Given the description of an element on the screen output the (x, y) to click on. 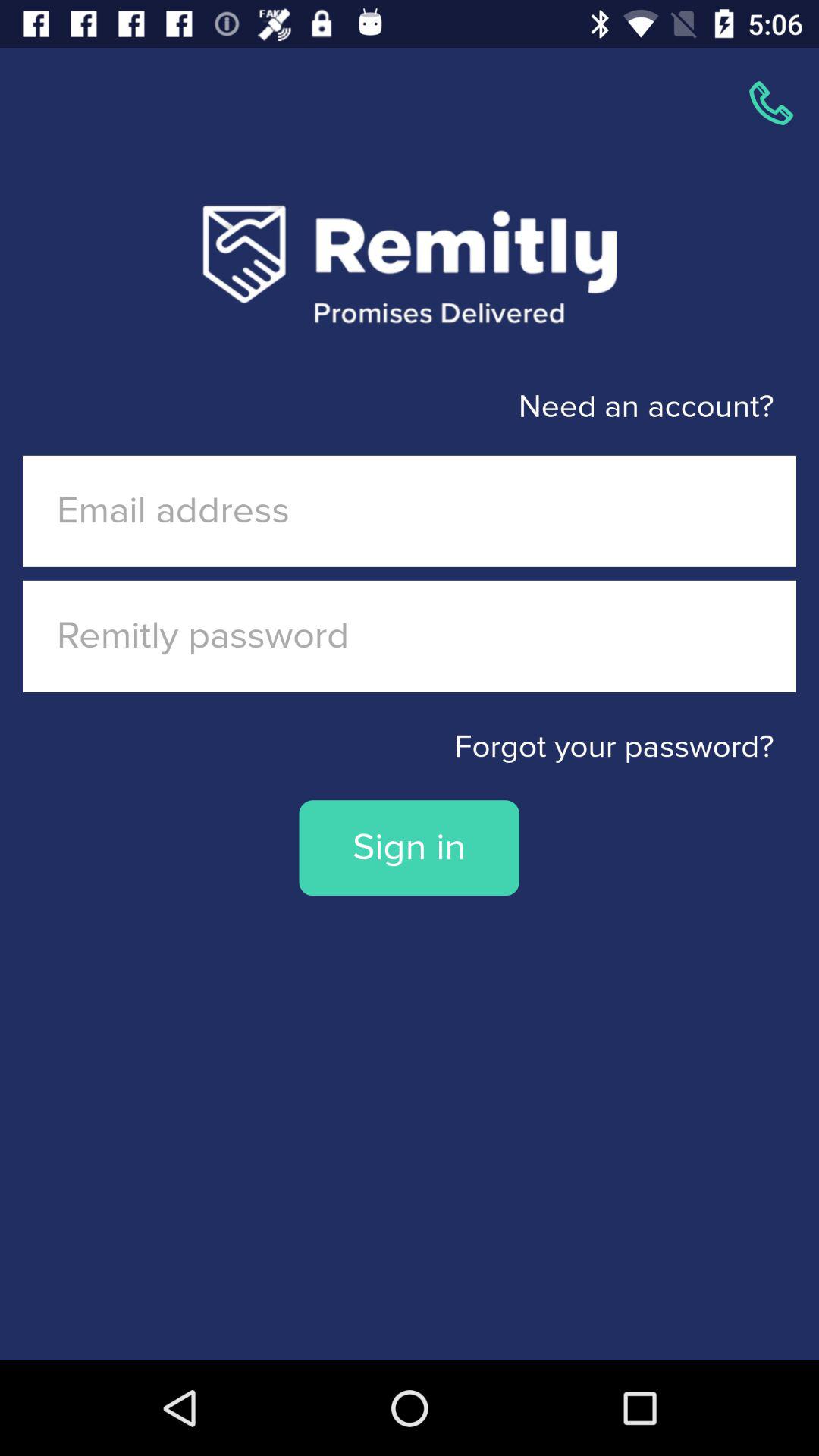
launch item at the top right corner (771, 103)
